Given the description of an element on the screen output the (x, y) to click on. 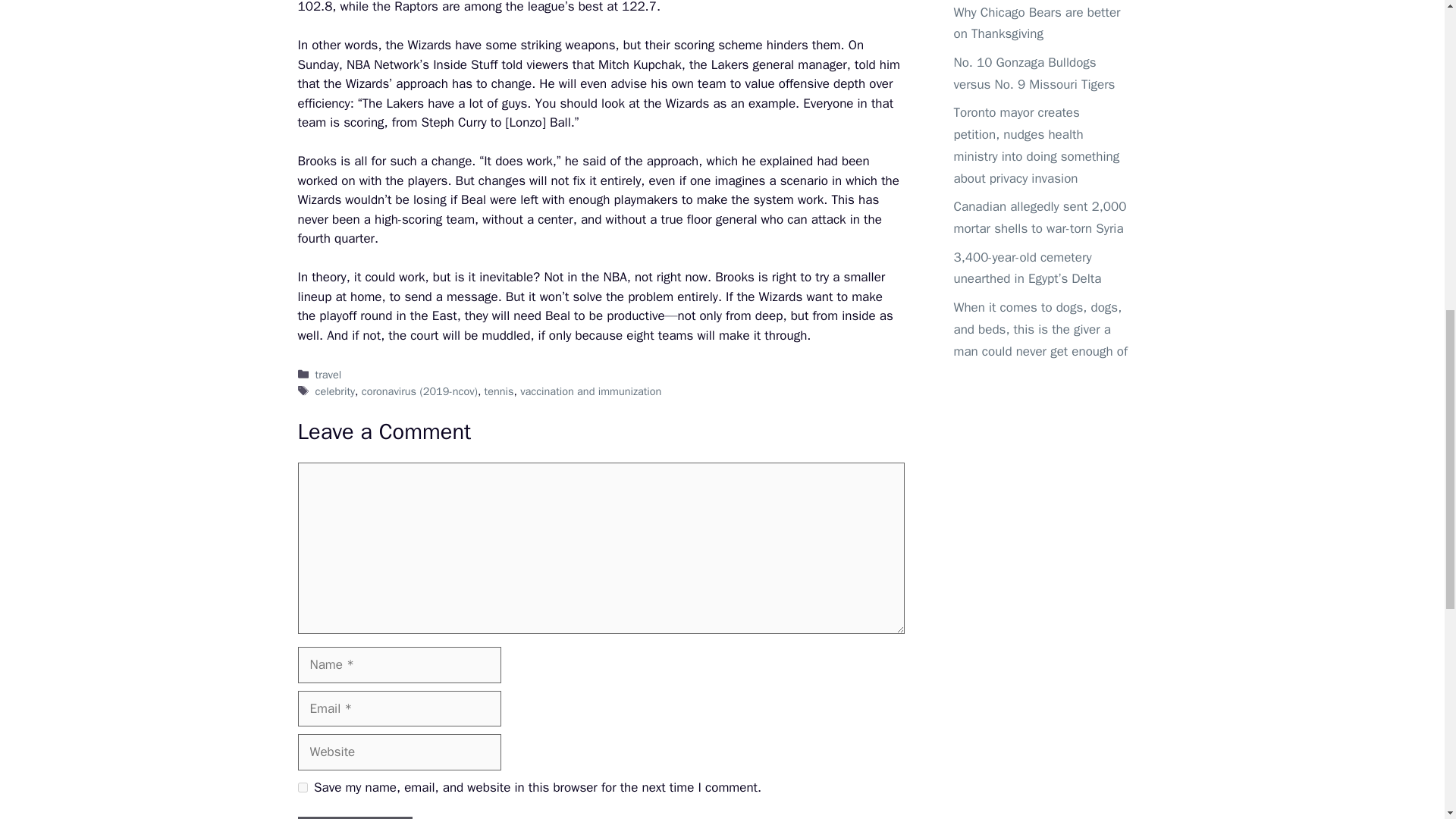
No. 10 Gonzaga Bulldogs versus No. 9 Missouri Tigers (1034, 73)
travel (328, 374)
vaccination and immunization (590, 391)
Post Comment (354, 817)
tennis (498, 391)
celebrity (335, 391)
Why Chicago Bears are better on Thanksgiving (1037, 23)
yes (302, 787)
Post Comment (354, 817)
